Given the description of an element on the screen output the (x, y) to click on. 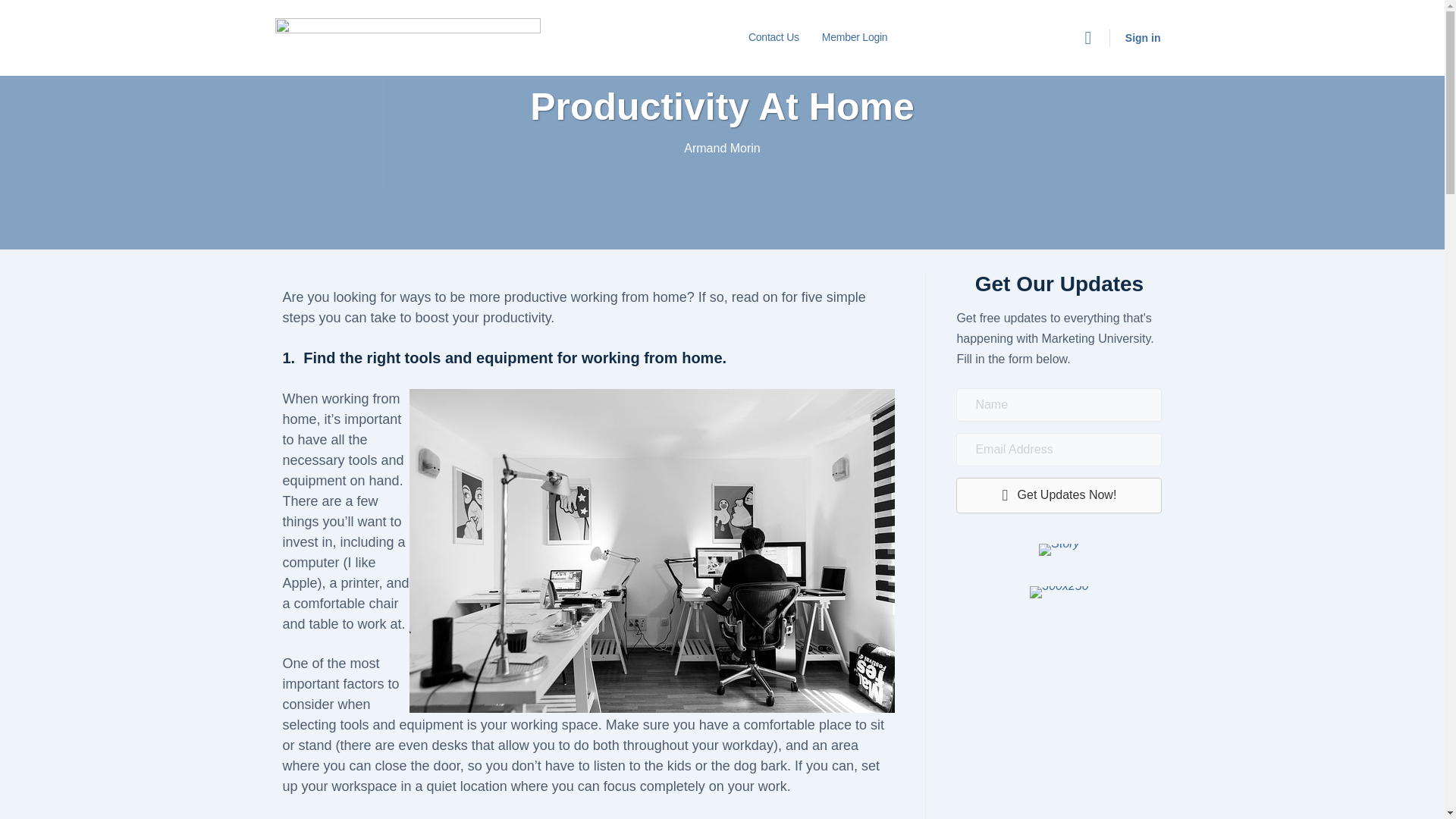
Armand Morin (722, 147)
Sign in (1143, 37)
Story (1058, 549)
300x250 (1058, 592)
Member Login (854, 38)
Get Updates Now! (1058, 495)
